Given the description of an element on the screen output the (x, y) to click on. 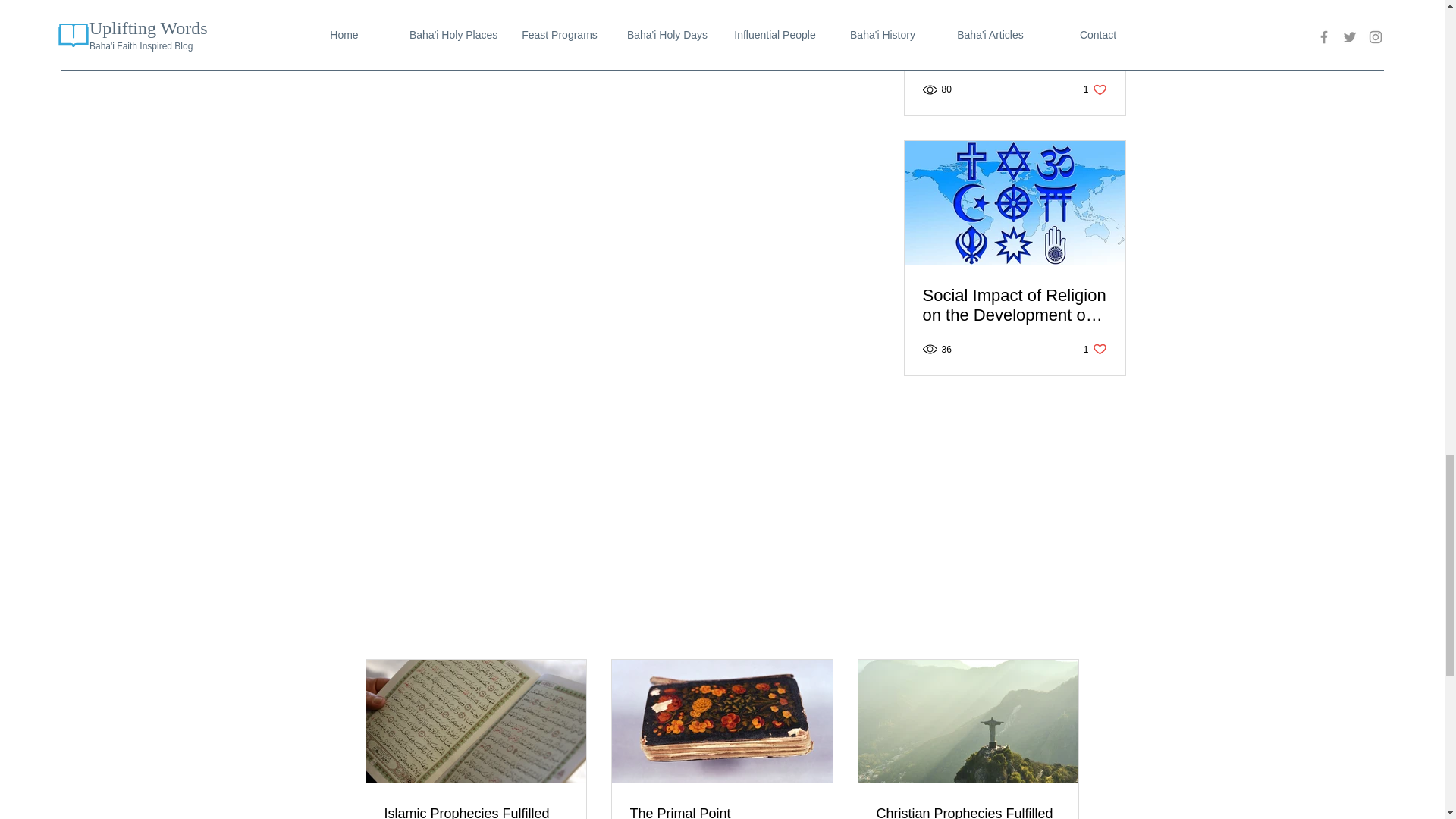
Program for the Observance of the Martyrdom of the Bab (1013, 45)
